Given the description of an element on the screen output the (x, y) to click on. 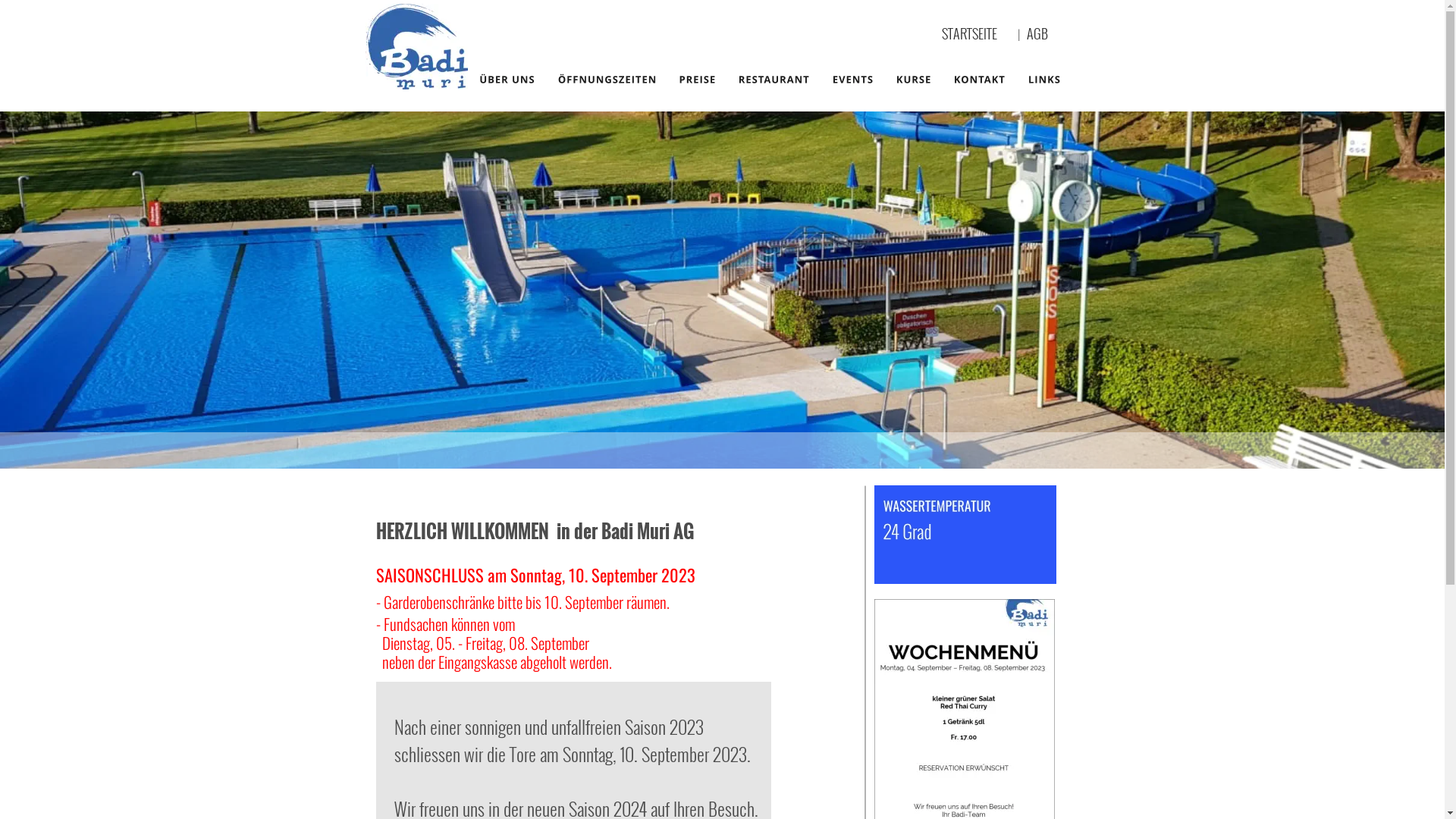
AGB    Element type: text (1041, 33)
STARTSEITE Element type: text (969, 33)
|   Element type: text (1021, 35)
